Given the description of an element on the screen output the (x, y) to click on. 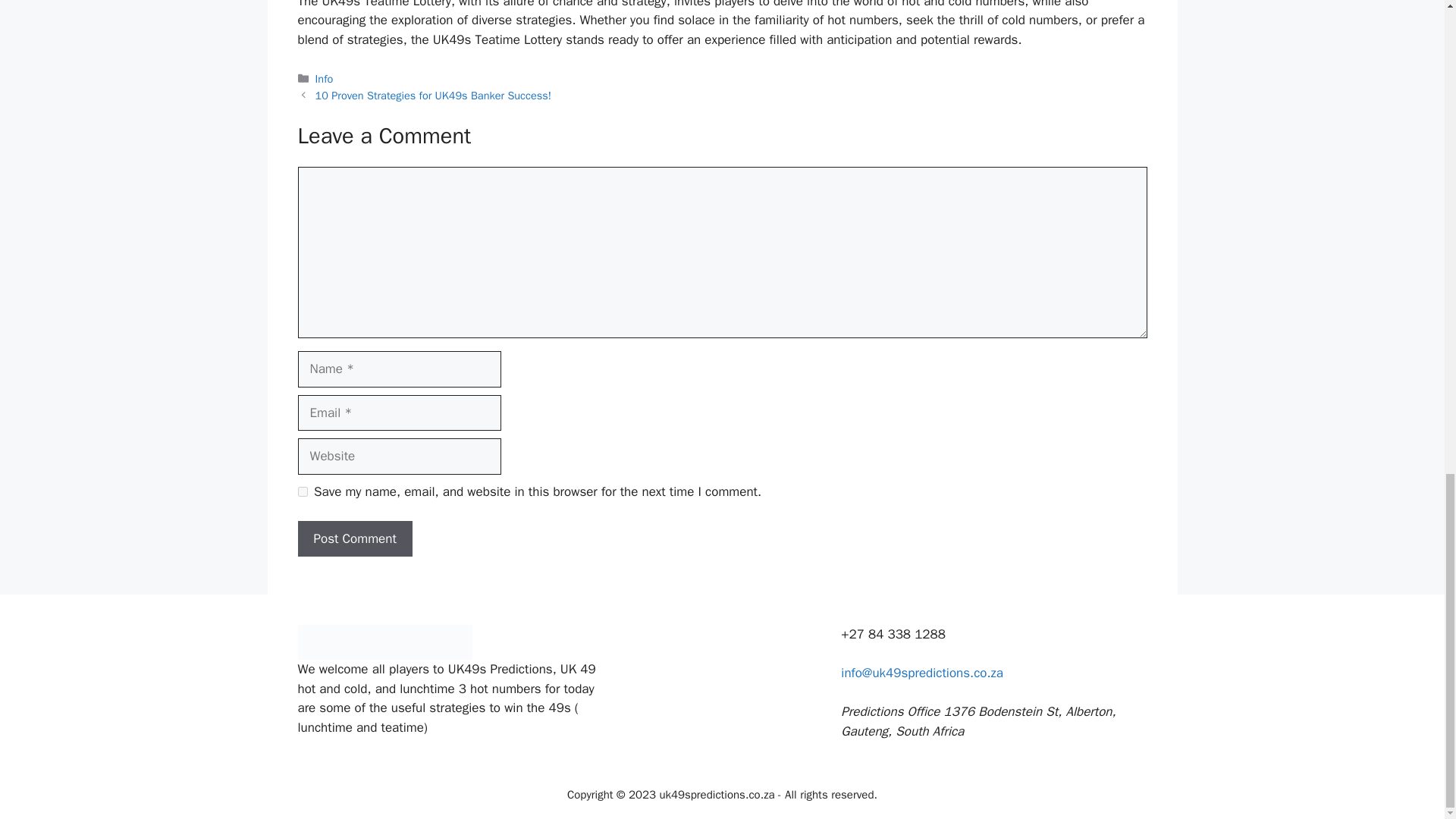
Post Comment (354, 538)
Scroll back to top (1406, 404)
yes (302, 491)
Info (324, 78)
10 Proven Strategies for UK49s Banker Success! (433, 95)
Post Comment (354, 538)
